Given the description of an element on the screen output the (x, y) to click on. 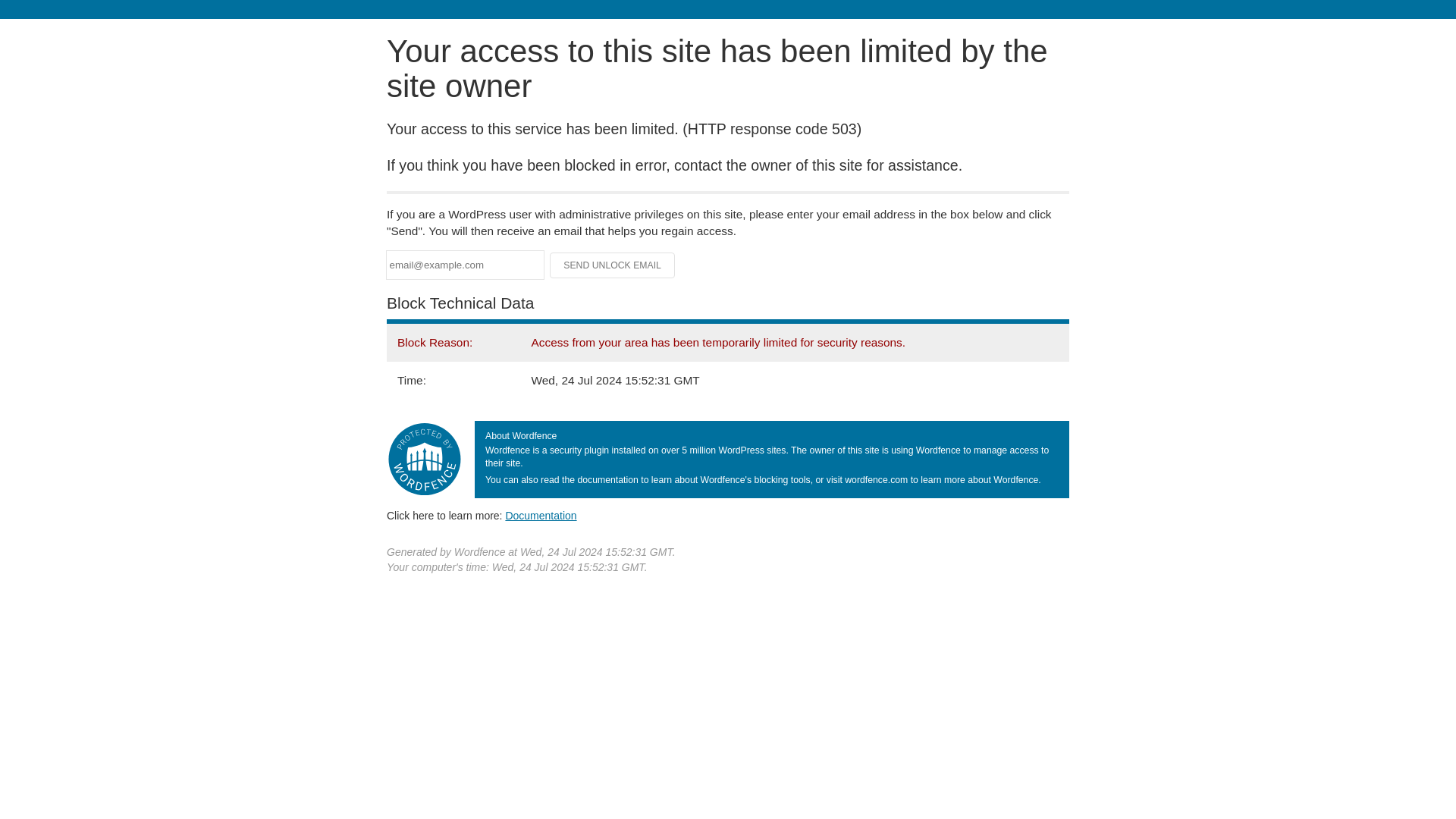
Send Unlock Email (612, 265)
Documentation (540, 515)
Send Unlock Email (612, 265)
